Given the description of an element on the screen output the (x, y) to click on. 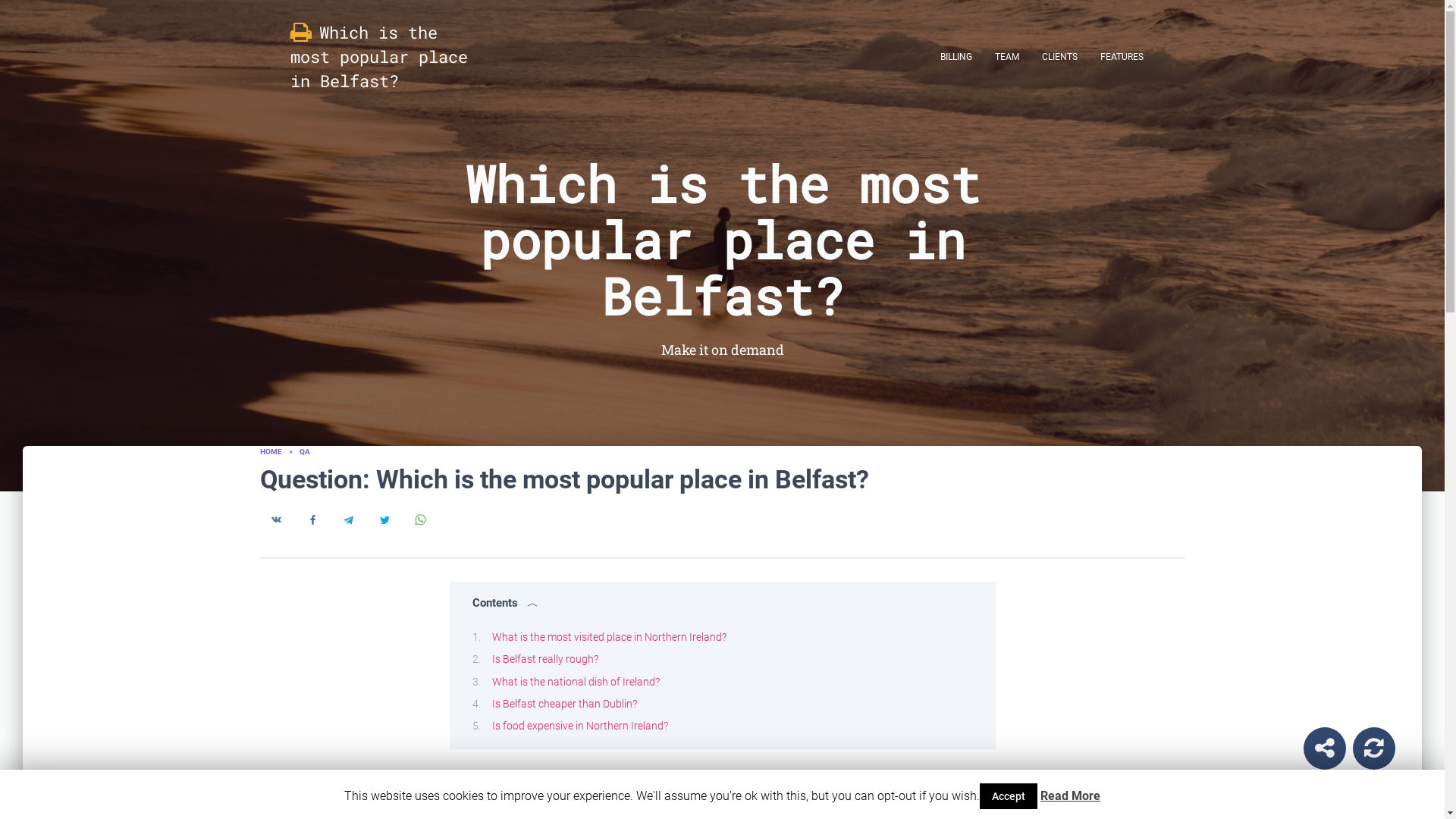
Which is the most popular place in Belfast? (379, 56)
Billing (955, 56)
FEATURES (1121, 56)
Is Belfast cheaper than Dublin? (564, 703)
Is Belfast really rough? (544, 658)
Accept (1007, 795)
Clients (1058, 56)
What is the most visited place in Northern Ireland? (608, 636)
Which is the most popular place in Belfast? (379, 56)
TEAM (1005, 56)
New Startup (1374, 747)
CLIENTS (1058, 56)
BILLING (955, 56)
Features (1121, 56)
What is the national dish of Ireland? (575, 680)
